Given the description of an element on the screen output the (x, y) to click on. 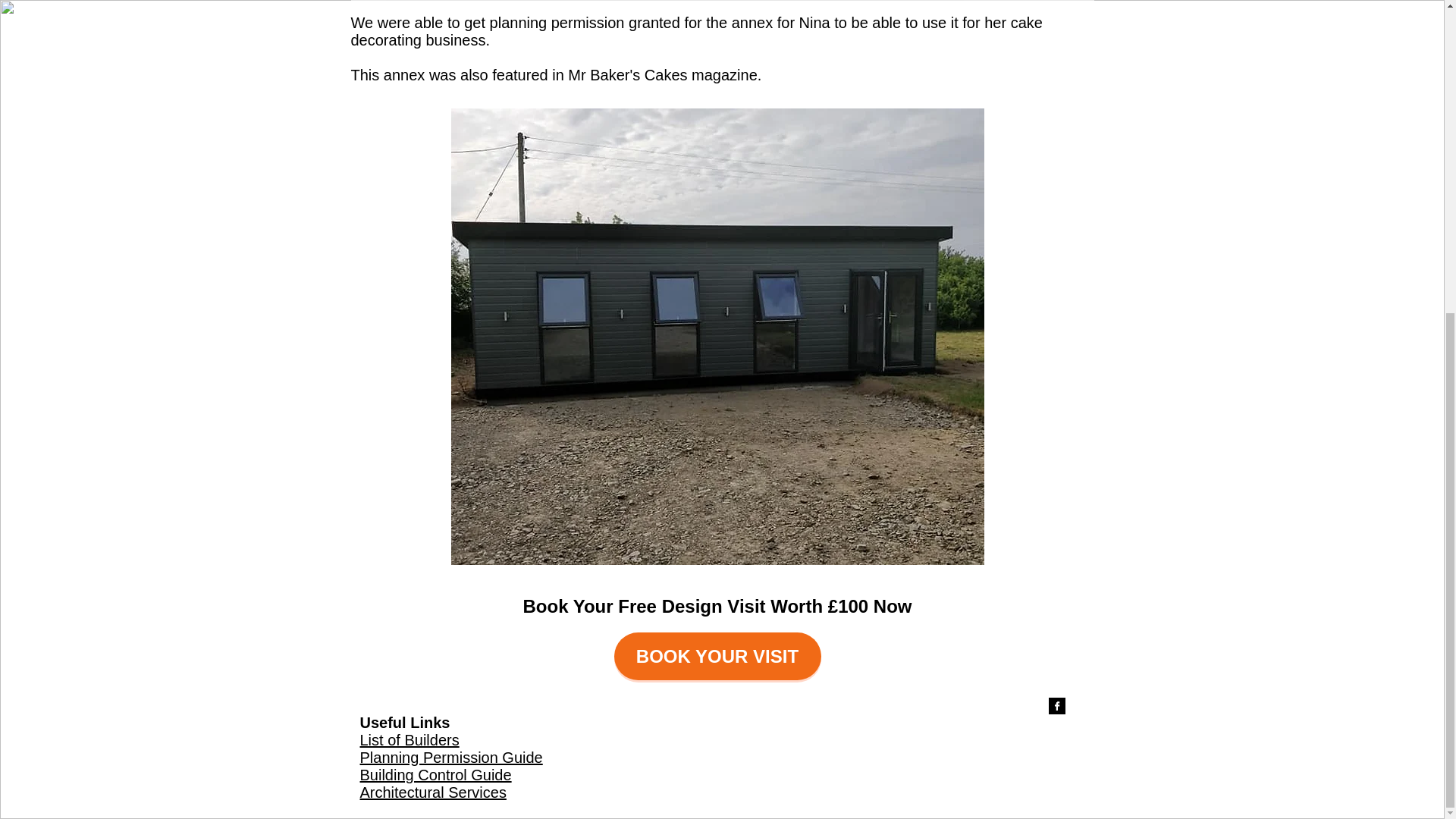
BOOK YOUR VISIT (717, 656)
Planning Permission Guide (450, 757)
List of Builders (408, 740)
Architectural Services (432, 791)
Building Control Guide (435, 774)
